Given the description of an element on the screen output the (x, y) to click on. 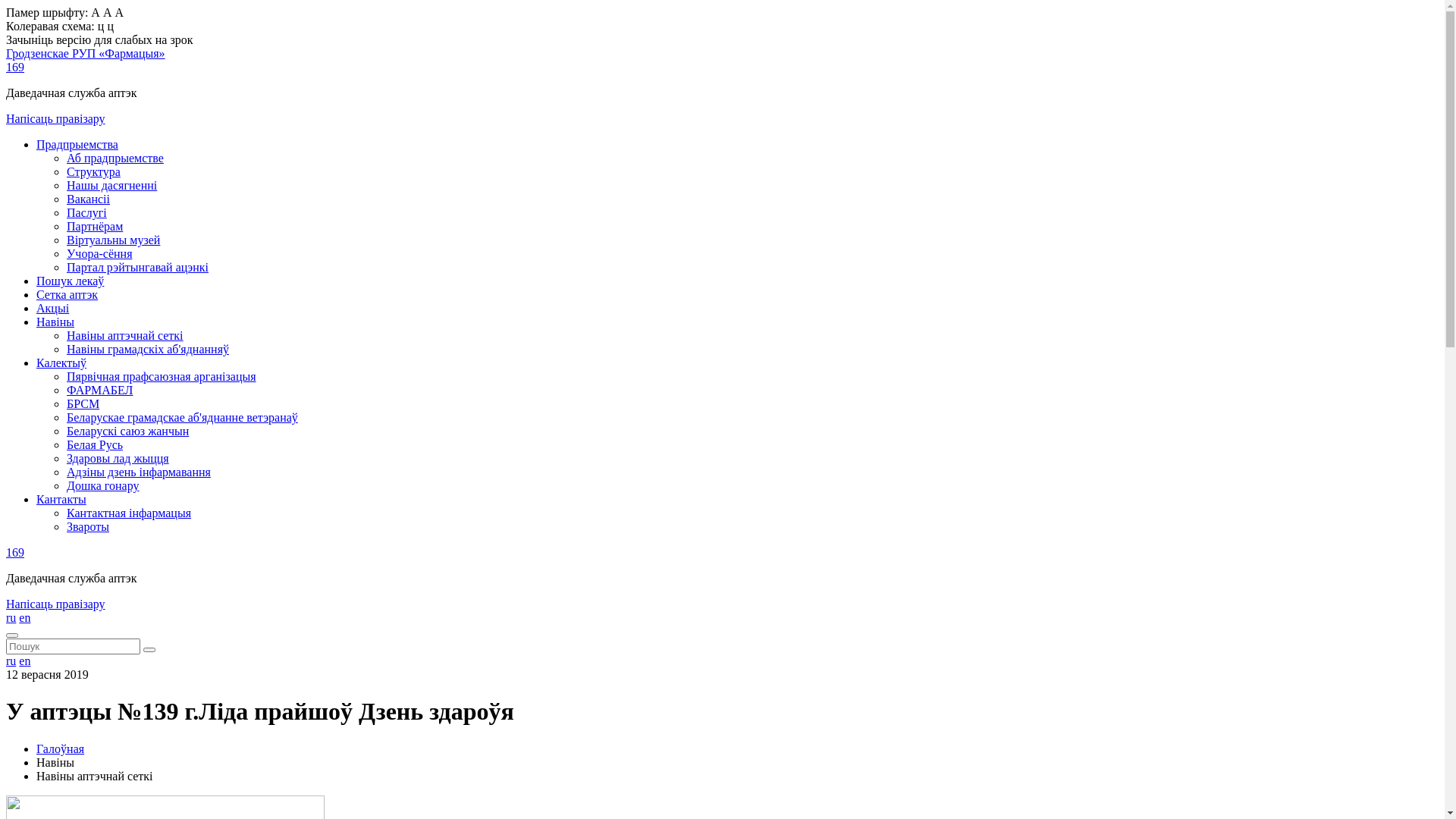
169 Element type: text (15, 552)
169 Element type: text (15, 66)
en Element type: text (24, 617)
ru Element type: text (10, 617)
en Element type: text (24, 660)
ru Element type: text (10, 660)
